Given the description of an element on the screen output the (x, y) to click on. 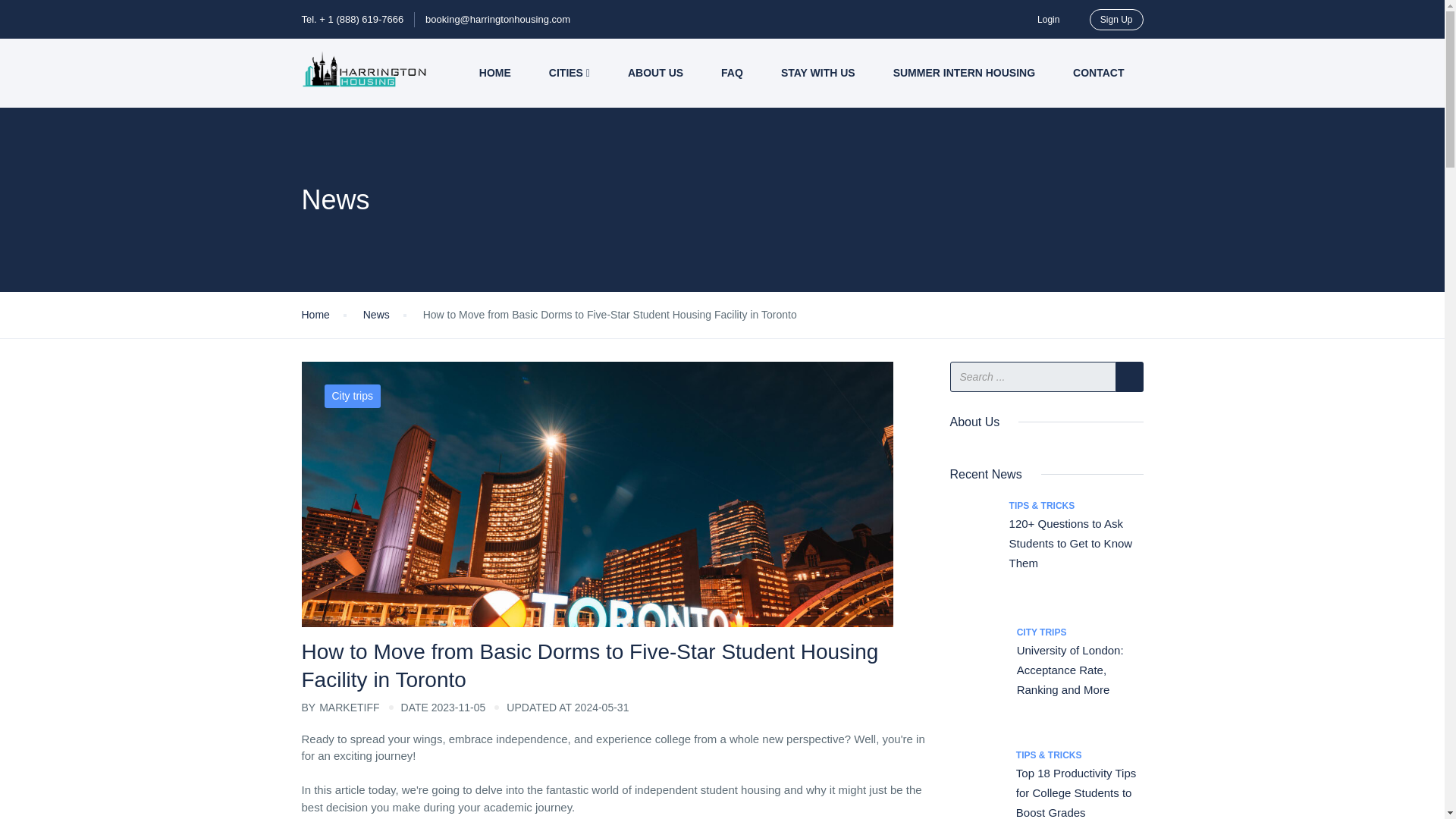
CONTACT (1098, 72)
Login (1047, 18)
Sign Up (1115, 19)
CITIES (568, 72)
ABOUT US (654, 72)
STAY WITH US (818, 72)
HOME (494, 72)
SUMMER INTERN HOUSING (964, 72)
